Given the description of an element on the screen output the (x, y) to click on. 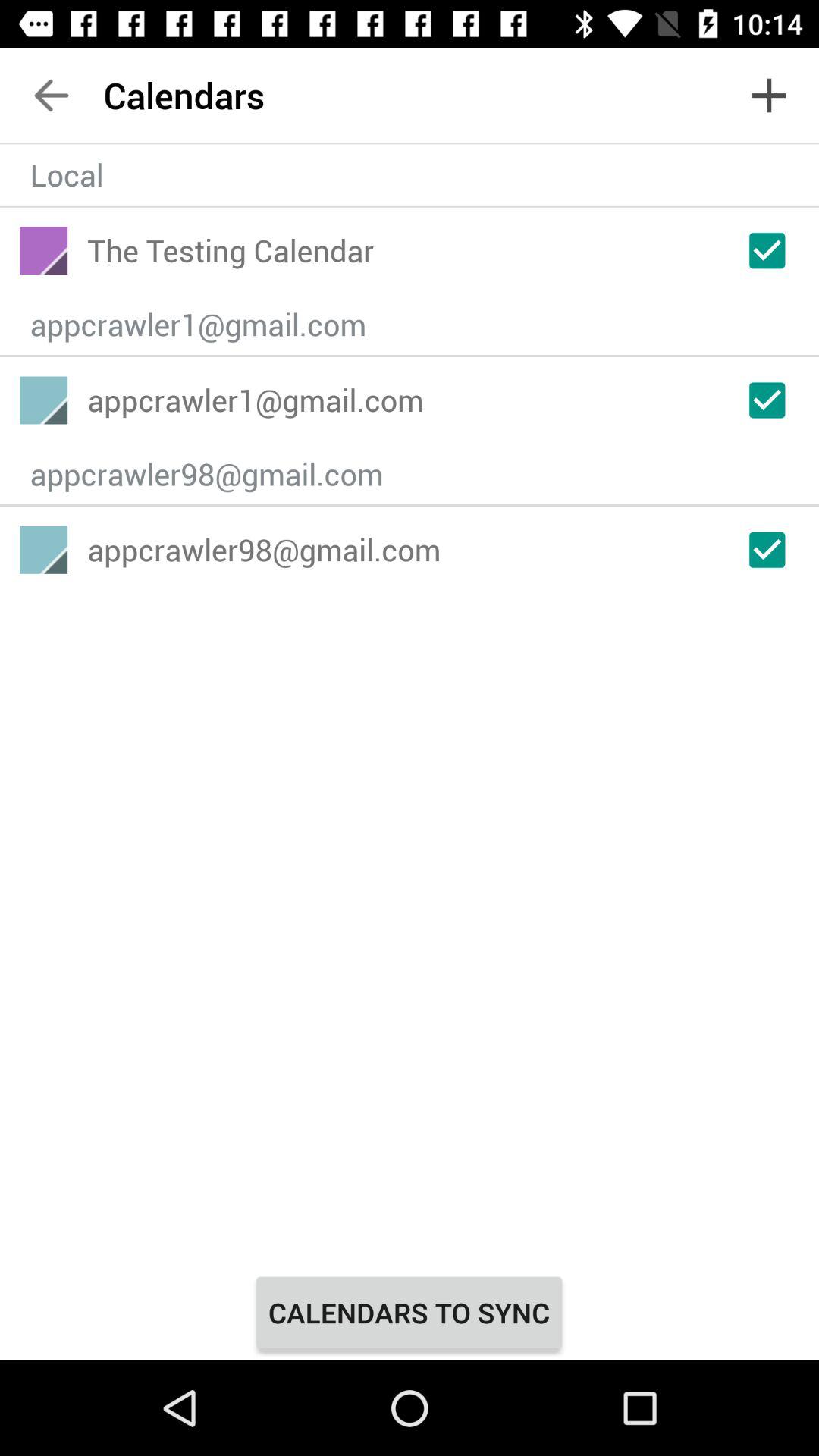
flip to calendars to sync item (408, 1312)
